Given the description of an element on the screen output the (x, y) to click on. 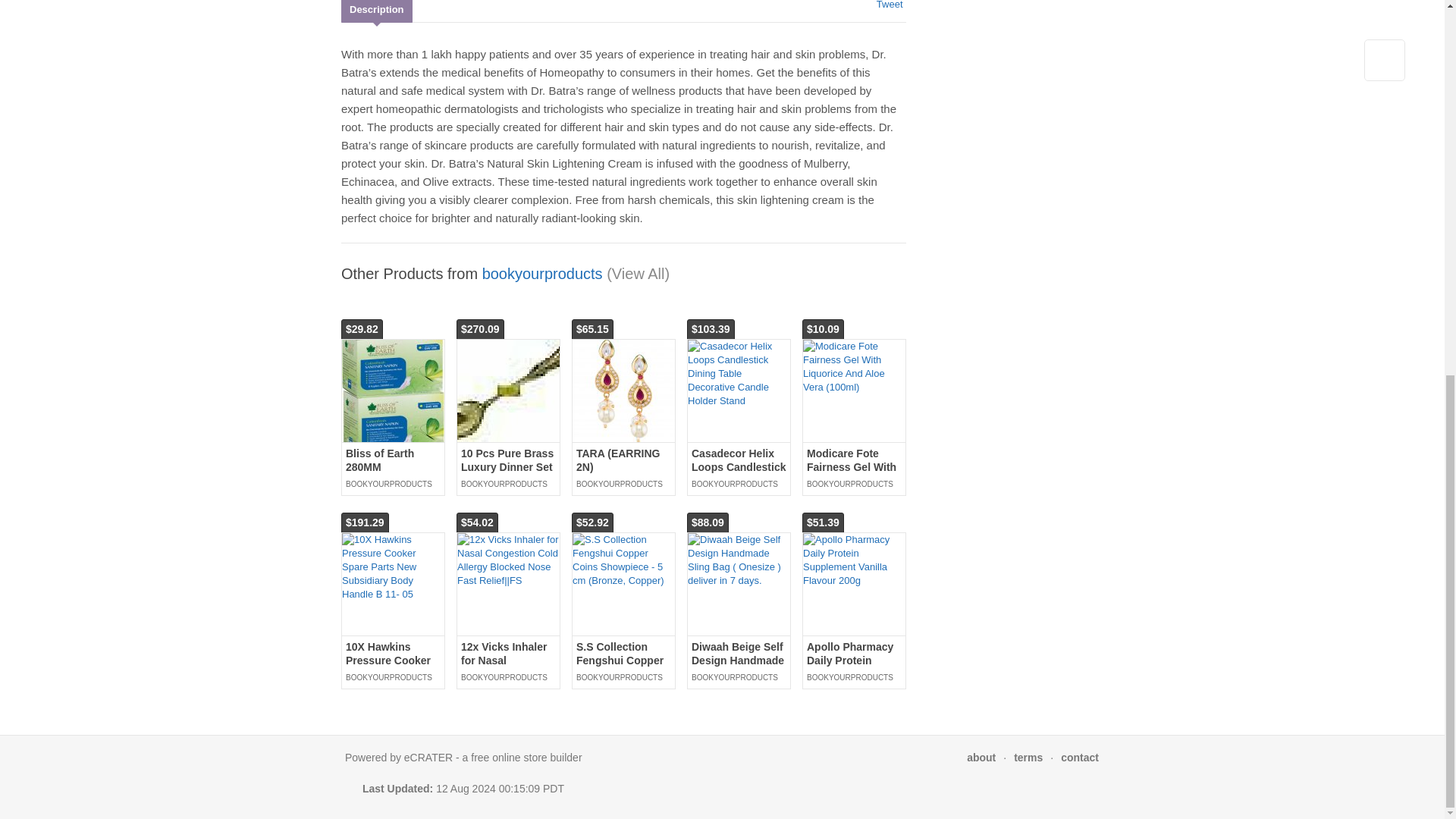
Description (376, 11)
BOOKYOURPRODUCTS (507, 484)
BOOKYOURPRODUCTS (392, 484)
BOOKYOURPRODUCTS (622, 484)
